Given the description of an element on the screen output the (x, y) to click on. 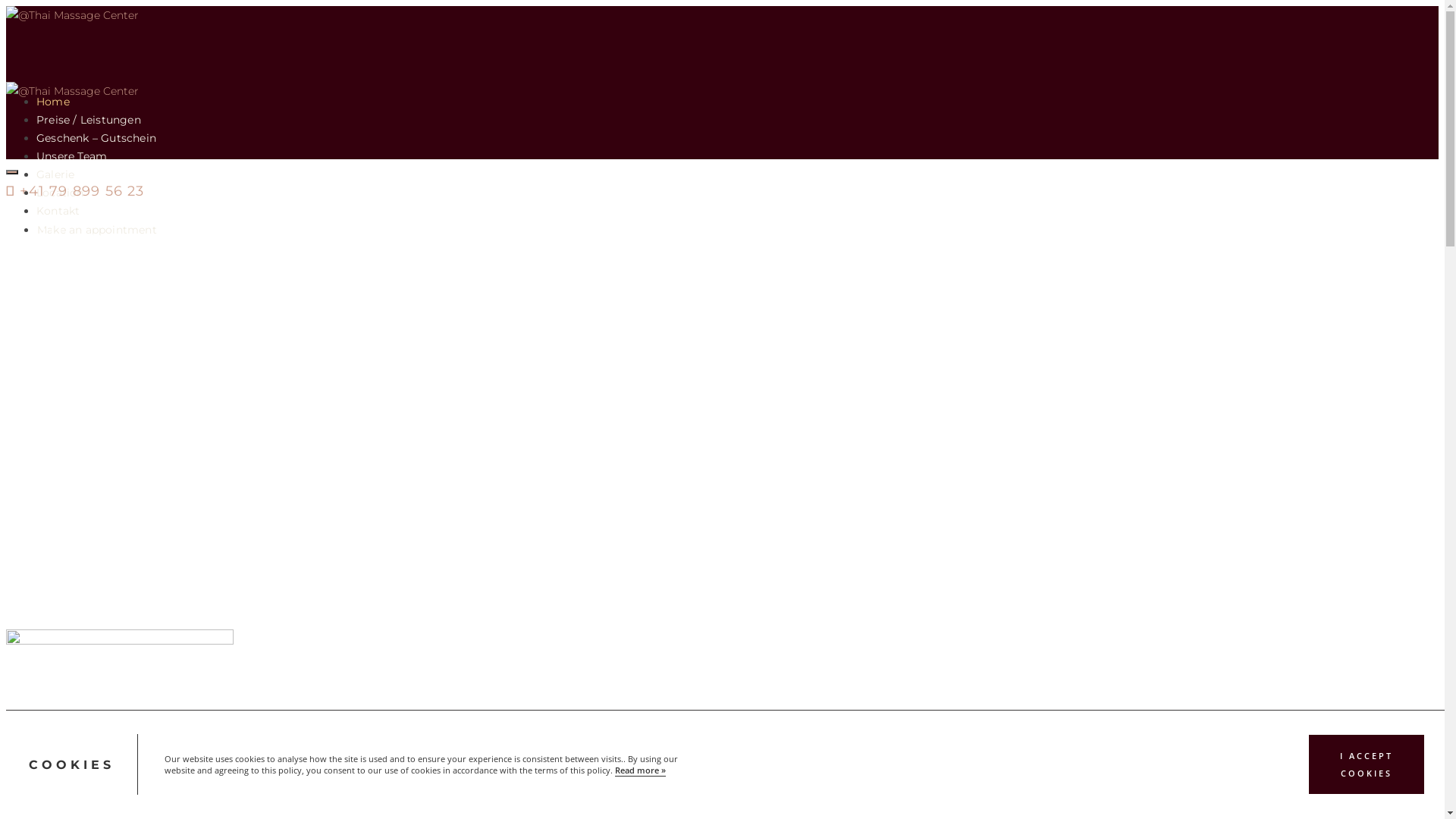
Preise / Leistungen Element type: text (88, 119)
Galerie Element type: text (55, 174)
Kontakt Element type: text (57, 210)
Home Element type: text (52, 101)
Make an appointment Element type: text (96, 229)
Location Element type: text (60, 192)
I ACCEPT COOKIES Element type: text (1366, 764)
Unsere Team Element type: text (71, 156)
